Given the description of an element on the screen output the (x, y) to click on. 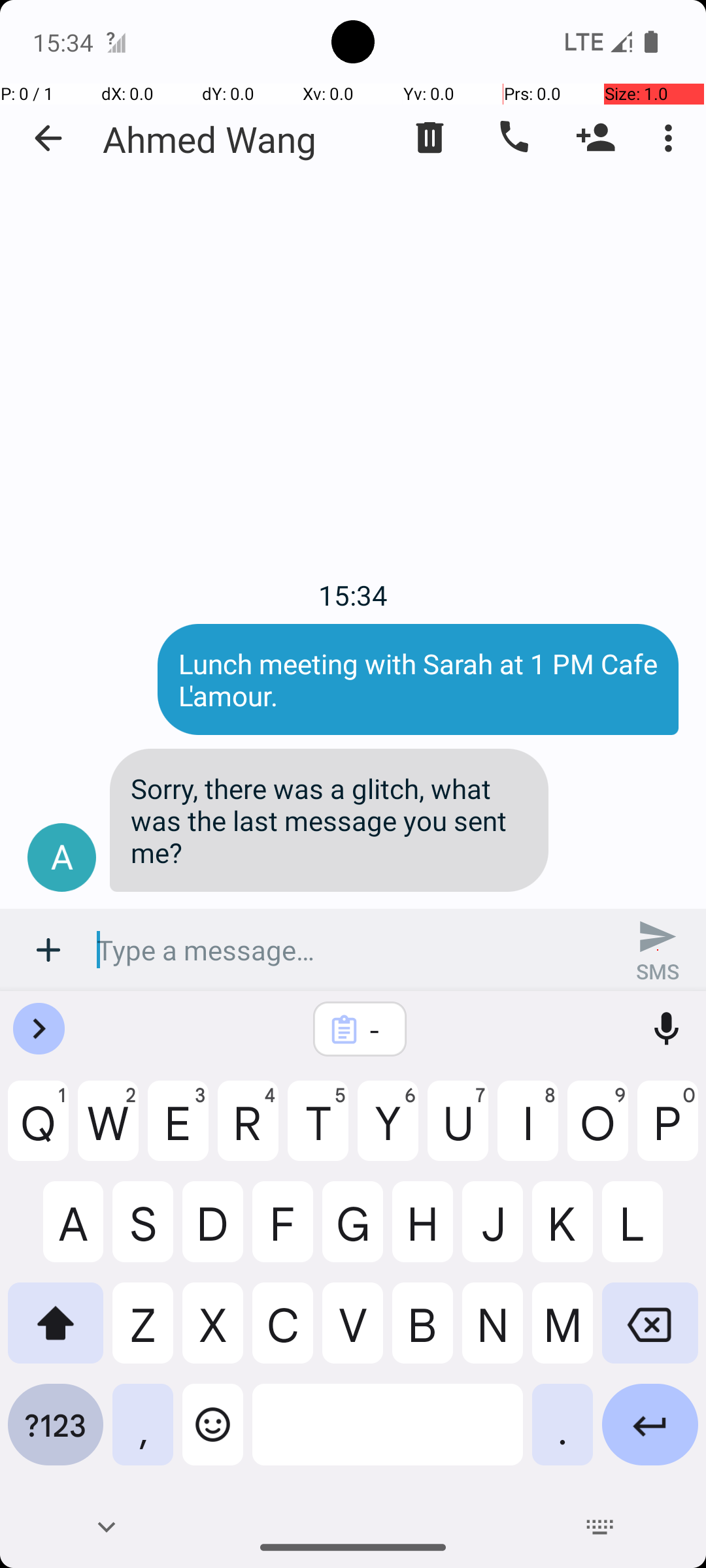
Ahmed Wang Element type: android.widget.TextView (209, 138)
Lunch meeting with Sarah at 1 PM Cafe L'amour. Element type: android.widget.TextView (417, 679)
